Given the description of an element on the screen output the (x, y) to click on. 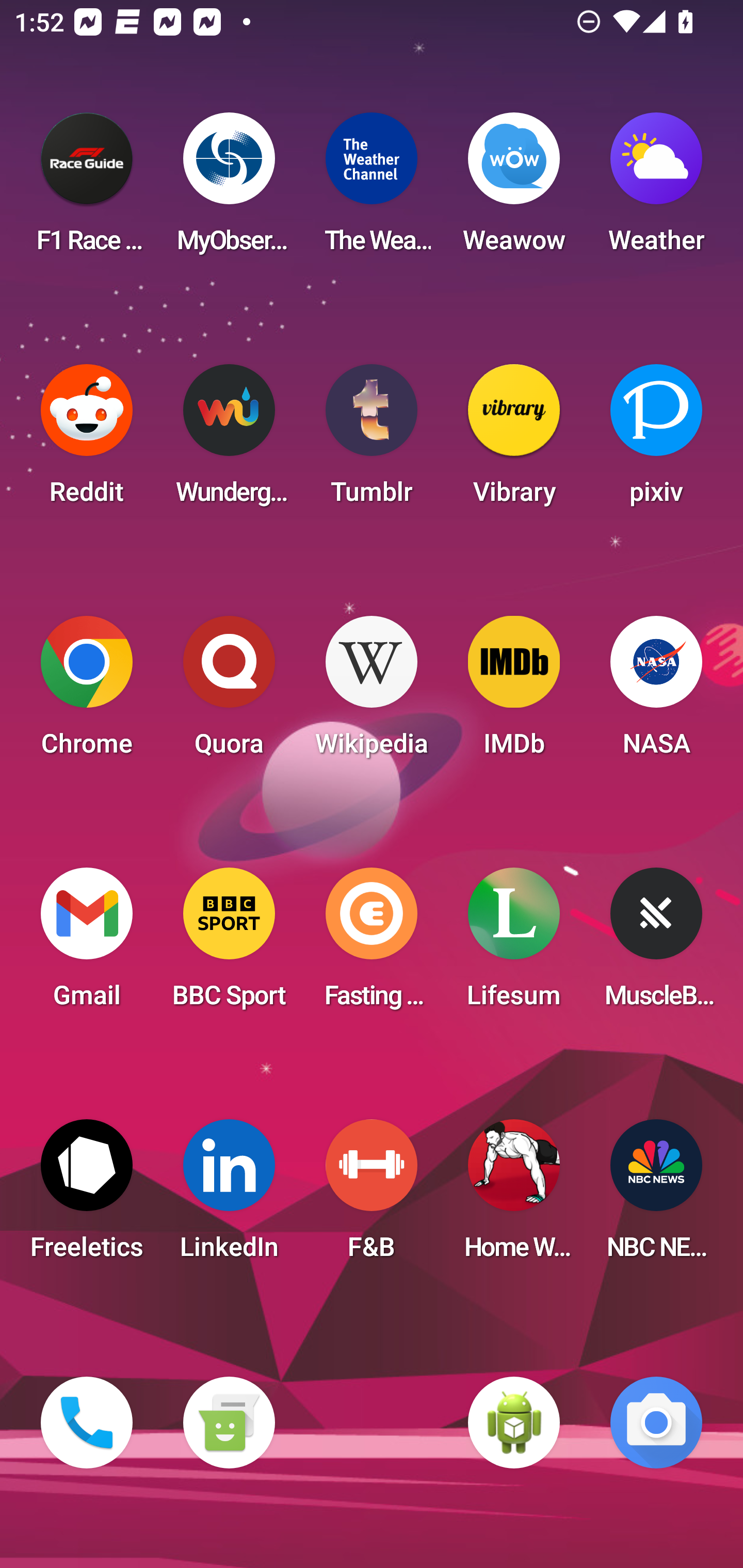
F1 Race Guide (86, 188)
MyObservatory (228, 188)
The Weather Channel (371, 188)
Weawow (513, 188)
Weather (656, 188)
Reddit (86, 440)
Wunderground (228, 440)
Tumblr (371, 440)
Vibrary (513, 440)
pixiv (656, 440)
Chrome (86, 692)
Quora (228, 692)
Wikipedia (371, 692)
IMDb (513, 692)
NASA (656, 692)
Gmail (86, 943)
BBC Sport (228, 943)
Fasting Coach (371, 943)
Lifesum (513, 943)
MuscleBooster (656, 943)
Freeletics (86, 1195)
LinkedIn (228, 1195)
F&B (371, 1195)
Home Workout (513, 1195)
NBC NEWS (656, 1195)
Phone (86, 1422)
Messaging (228, 1422)
WebView Browser Tester (513, 1422)
Camera (656, 1422)
